Given the description of an element on the screen output the (x, y) to click on. 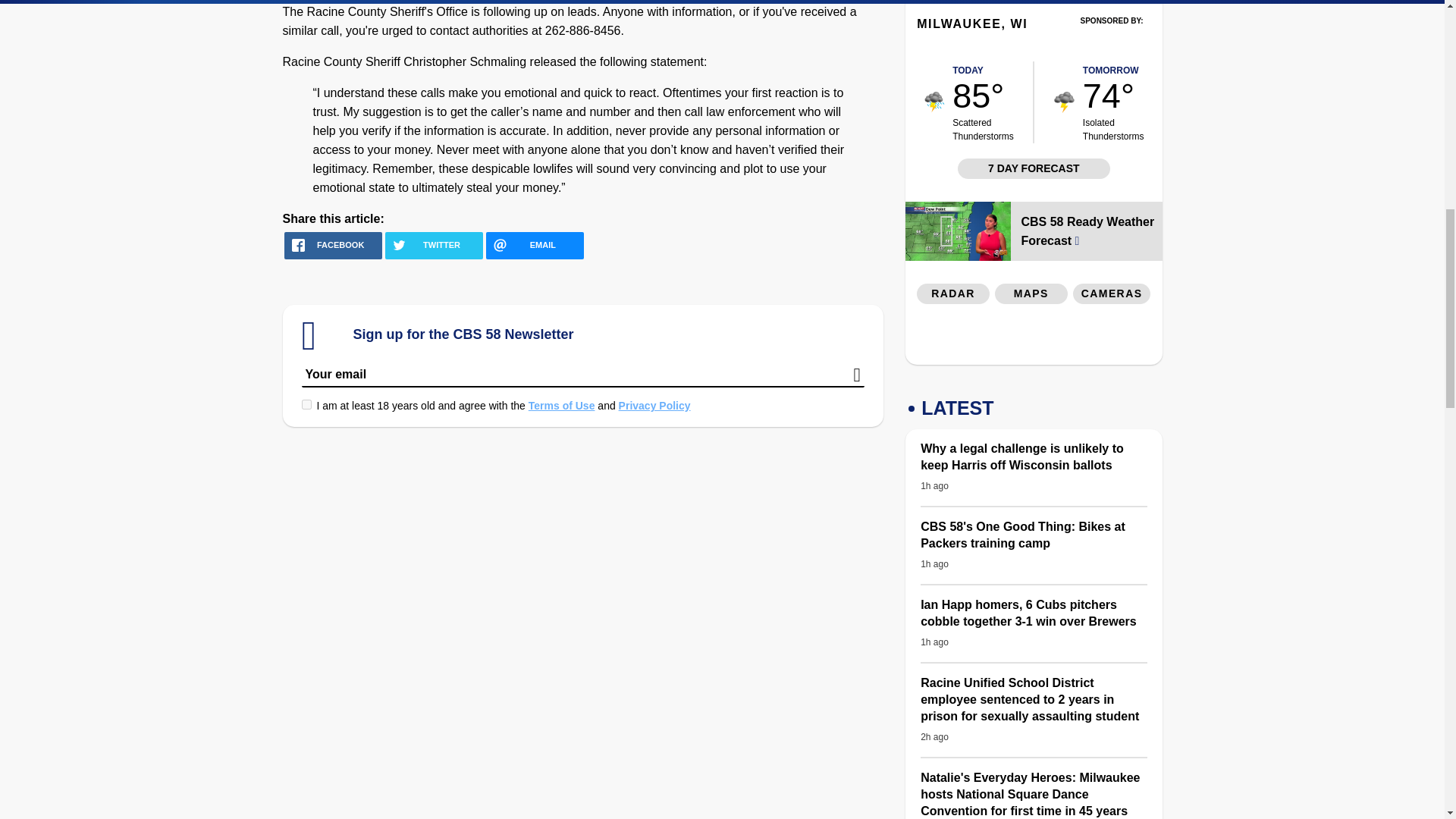
weather (1063, 102)
weather (934, 101)
on (306, 404)
3rd party ad content (1034, 338)
3rd party ad content (1112, 42)
